Given the description of an element on the screen output the (x, y) to click on. 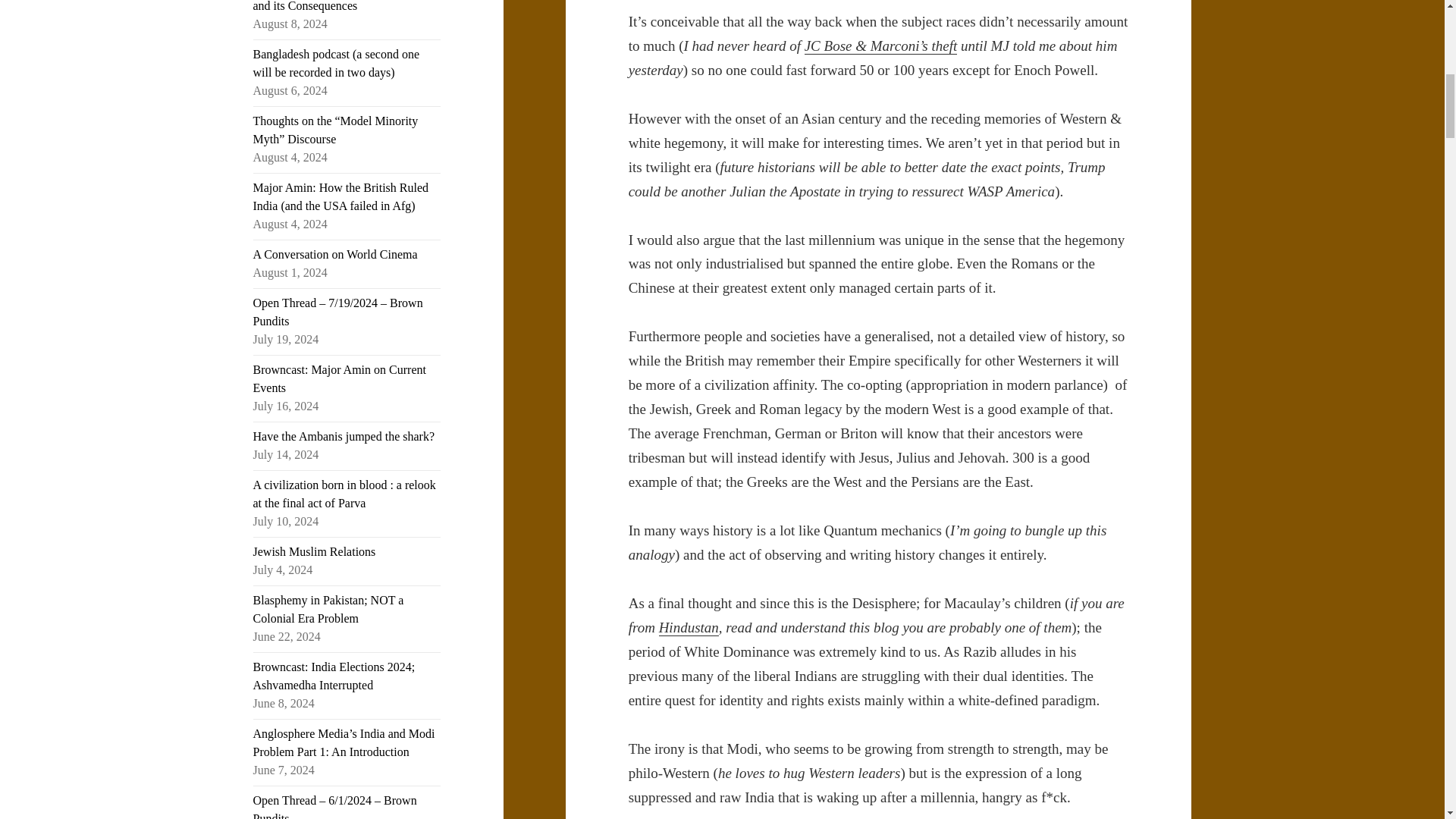
Browncast: India Elections 2024; Ashvamedha Interrupted (333, 675)
Jewish Muslim Relations (314, 551)
Browncast: Major Amin on Current Events (339, 378)
Have the Ambanis jumped the shark? (344, 436)
A Conversation on World Cinema (335, 254)
Blasphemy in Pakistan; NOT a Colonial Era Problem (328, 608)
